Given the description of an element on the screen output the (x, y) to click on. 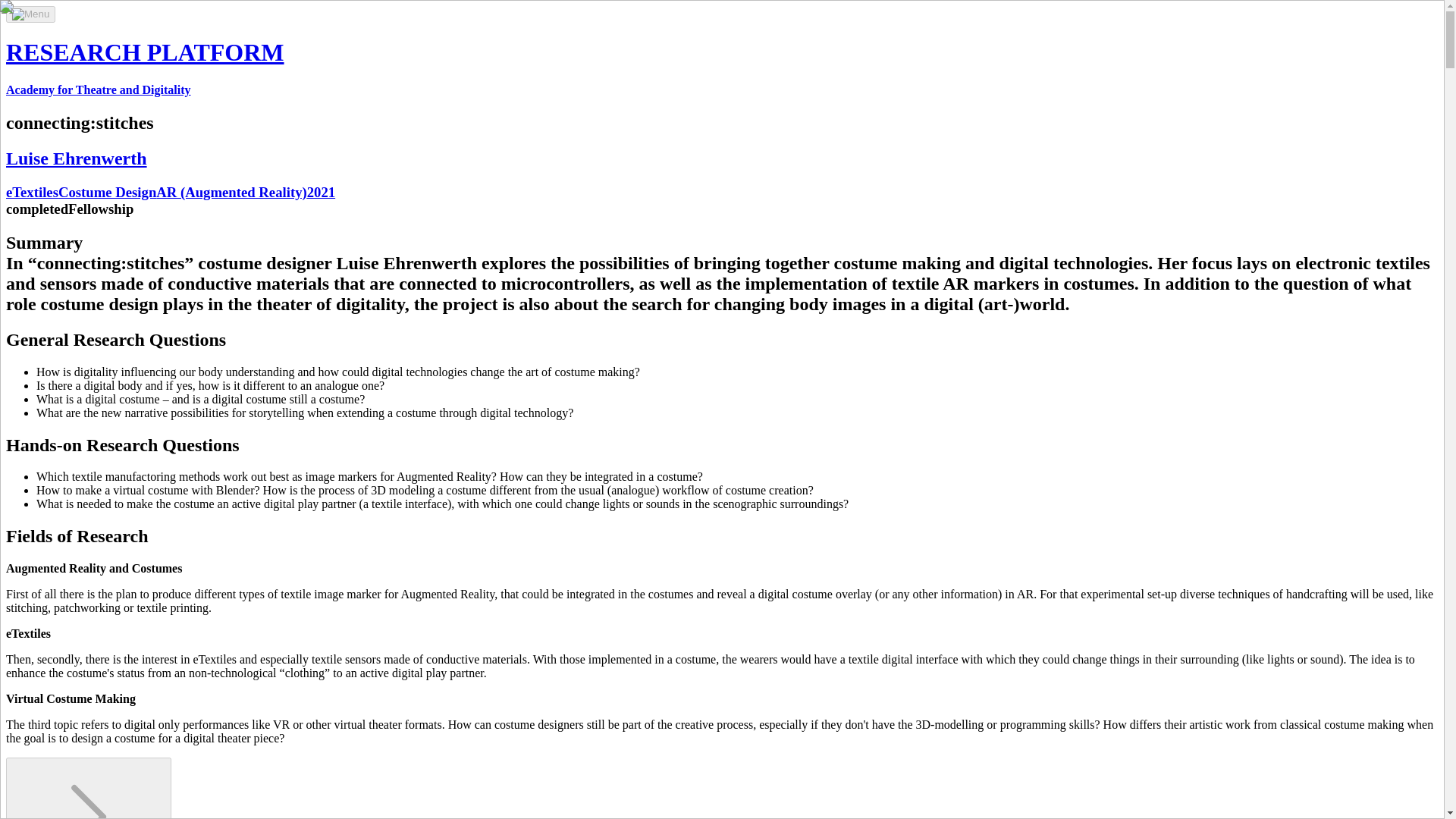
Augmented Reality and Costumes (88, 788)
eTextiles (31, 191)
Luise Ehrenwerth (76, 158)
Costume Design (106, 191)
2021 (320, 191)
